Given the description of an element on the screen output the (x, y) to click on. 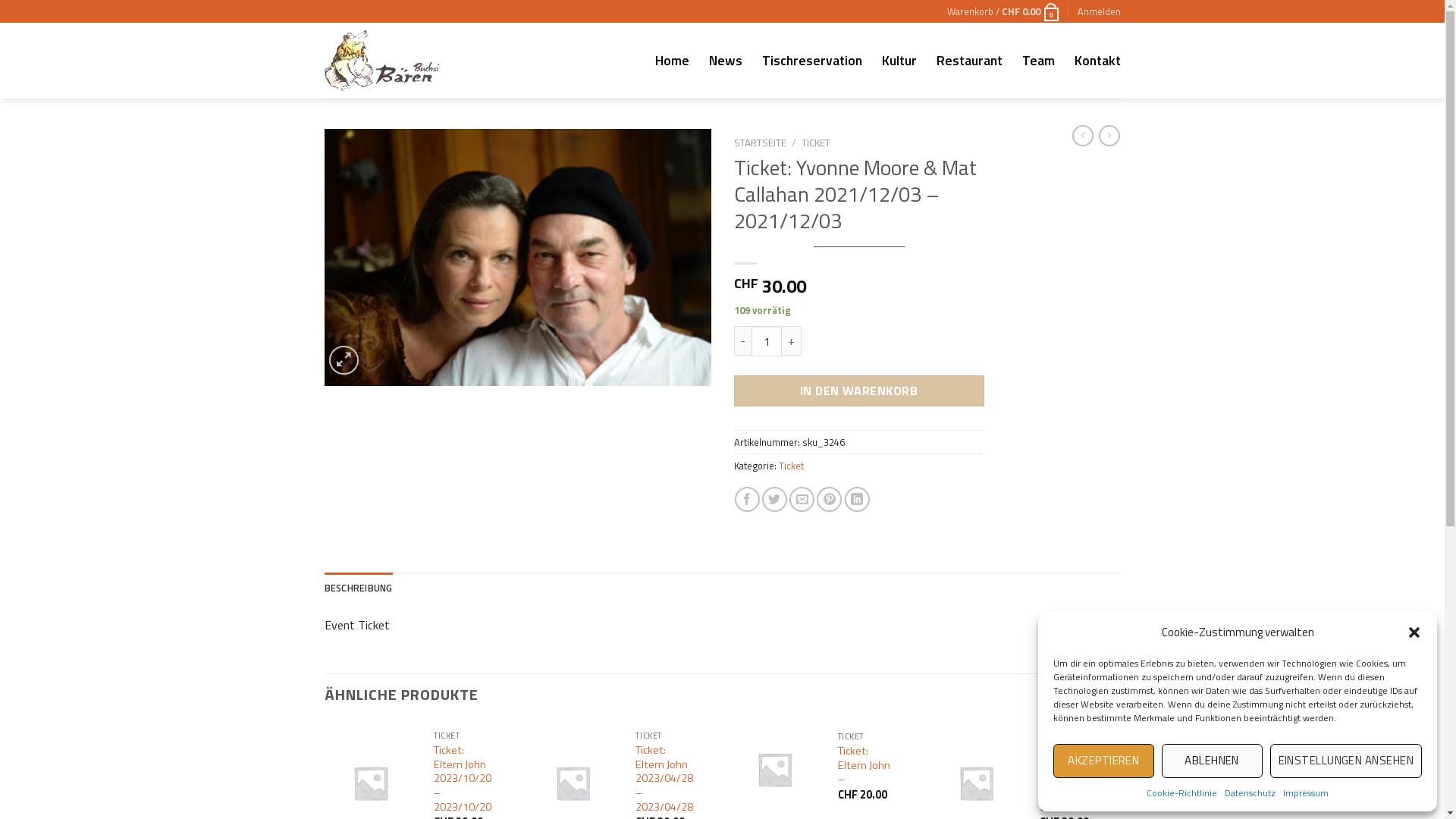
ABLEHNEN Element type: text (1211, 760)
Auf Twitter teilen Element type: hover (774, 498)
TICKET Element type: text (815, 142)
News Element type: text (724, 60)
Impressum Element type: text (1305, 792)
Kontakt Element type: text (1096, 60)
Home Element type: text (672, 60)
Tischreservation Element type: text (811, 60)
Zoom Element type: hover (343, 360)
Team Element type: text (1038, 60)
EINSTELLUNGEN ANSEHEN Element type: text (1345, 760)
Datenschutz Element type: text (1249, 792)
Ticket Element type: text (790, 465)
Warenkorb / CHF 0.00
0 Element type: text (1003, 11)
IN DEN WARENKORB Element type: text (859, 390)
Restaurant Element type: text (968, 60)
Cookie-Richtlinie Element type: text (1181, 792)
E-mail an einen Freund senden Element type: hover (801, 498)
BESCHREIBUNG Element type: text (358, 587)
Kultur Element type: text (898, 60)
Yvonne & Mat Element type: hover (517, 256)
AKZEPTIEREN Element type: text (1103, 760)
Pinterest Pin erstellen Element type: hover (828, 498)
Auf Facebook teilen Element type: hover (746, 498)
STARTSEITE Element type: text (760, 142)
Anmelden Element type: text (1098, 11)
Auf LinkedIn teilen Element type: hover (856, 498)
